Given the description of an element on the screen output the (x, y) to click on. 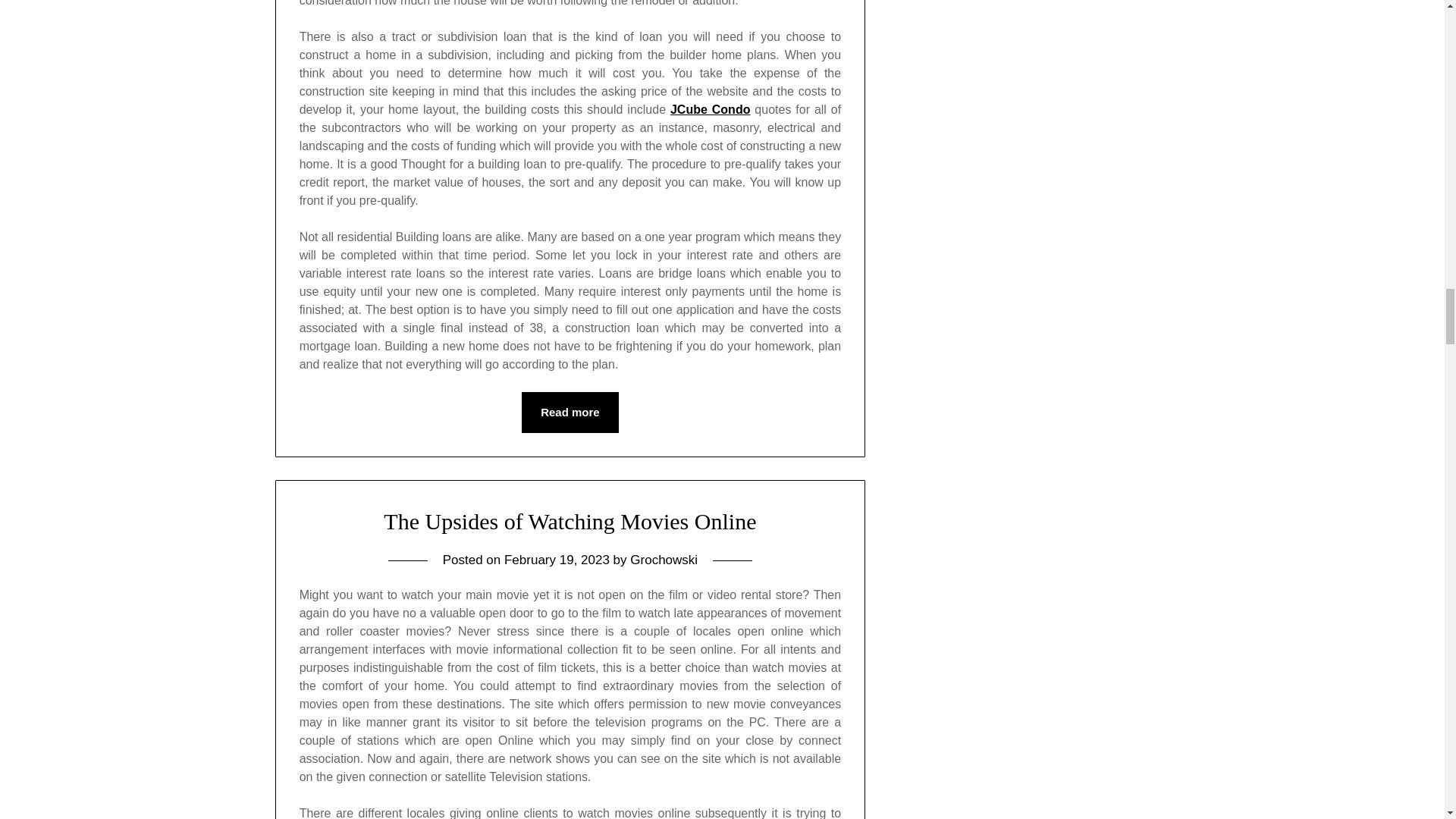
Grochowski (663, 559)
February 19, 2023 (556, 559)
The Upsides of Watching Movies Online (569, 520)
JCube Condo (709, 109)
Read more (569, 412)
